Given the description of an element on the screen output the (x, y) to click on. 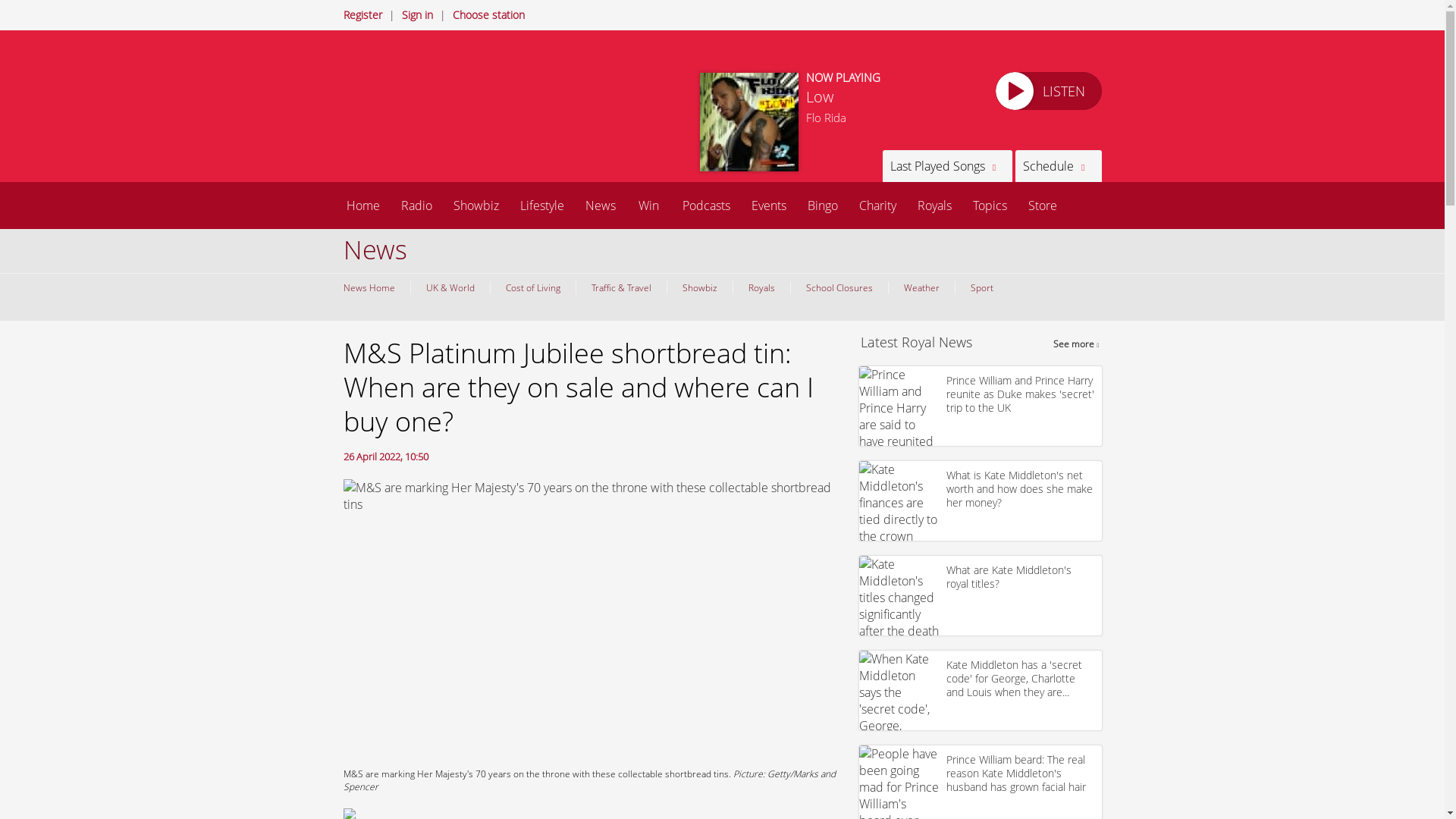
Schedule (1057, 165)
Events (767, 205)
Radio (416, 205)
Sport (980, 287)
Sign in (416, 14)
LISTEN (1047, 90)
Register (361, 14)
Showbiz (475, 205)
Showbiz (698, 287)
Podcasts (706, 205)
